Given the description of an element on the screen output the (x, y) to click on. 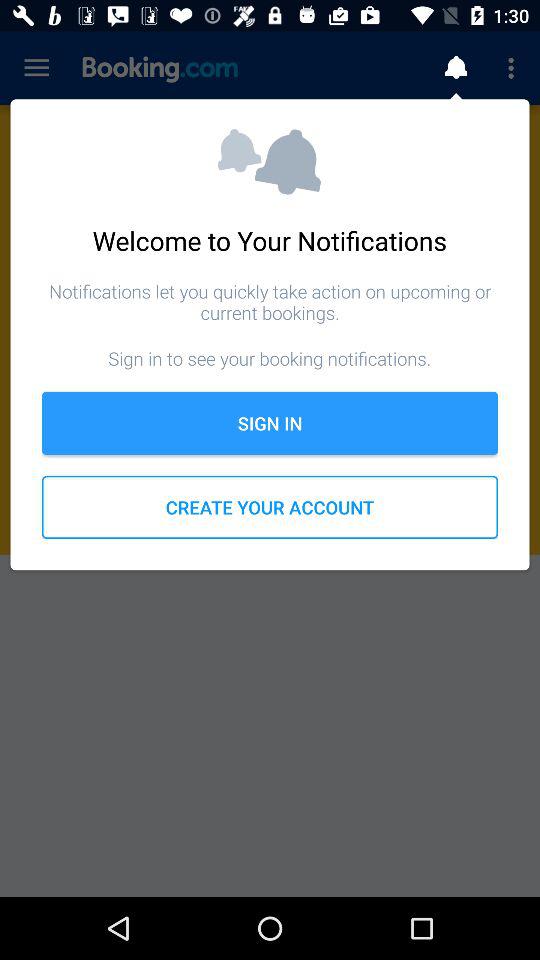
notification (455, 67)
